Given the description of an element on the screen output the (x, y) to click on. 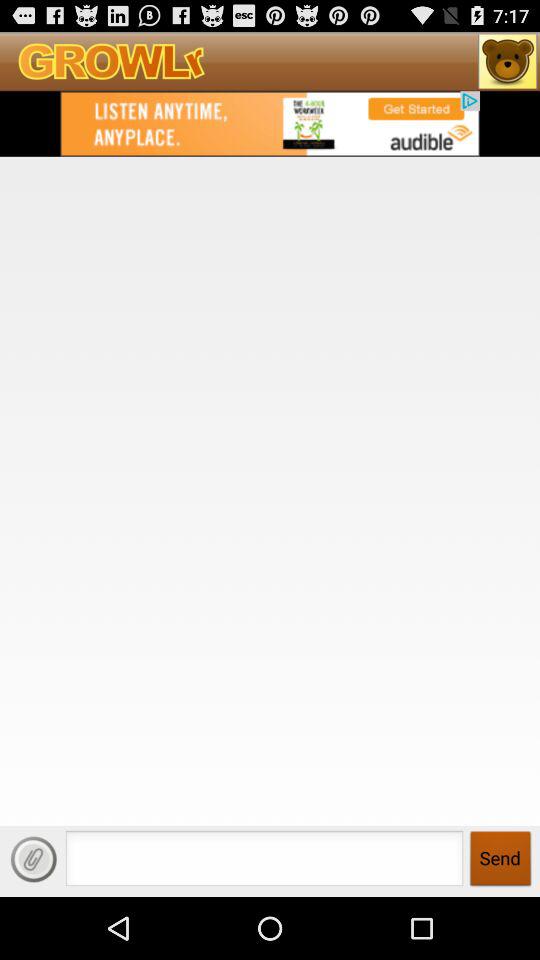
adds audible (270, 123)
